Given the description of an element on the screen output the (x, y) to click on. 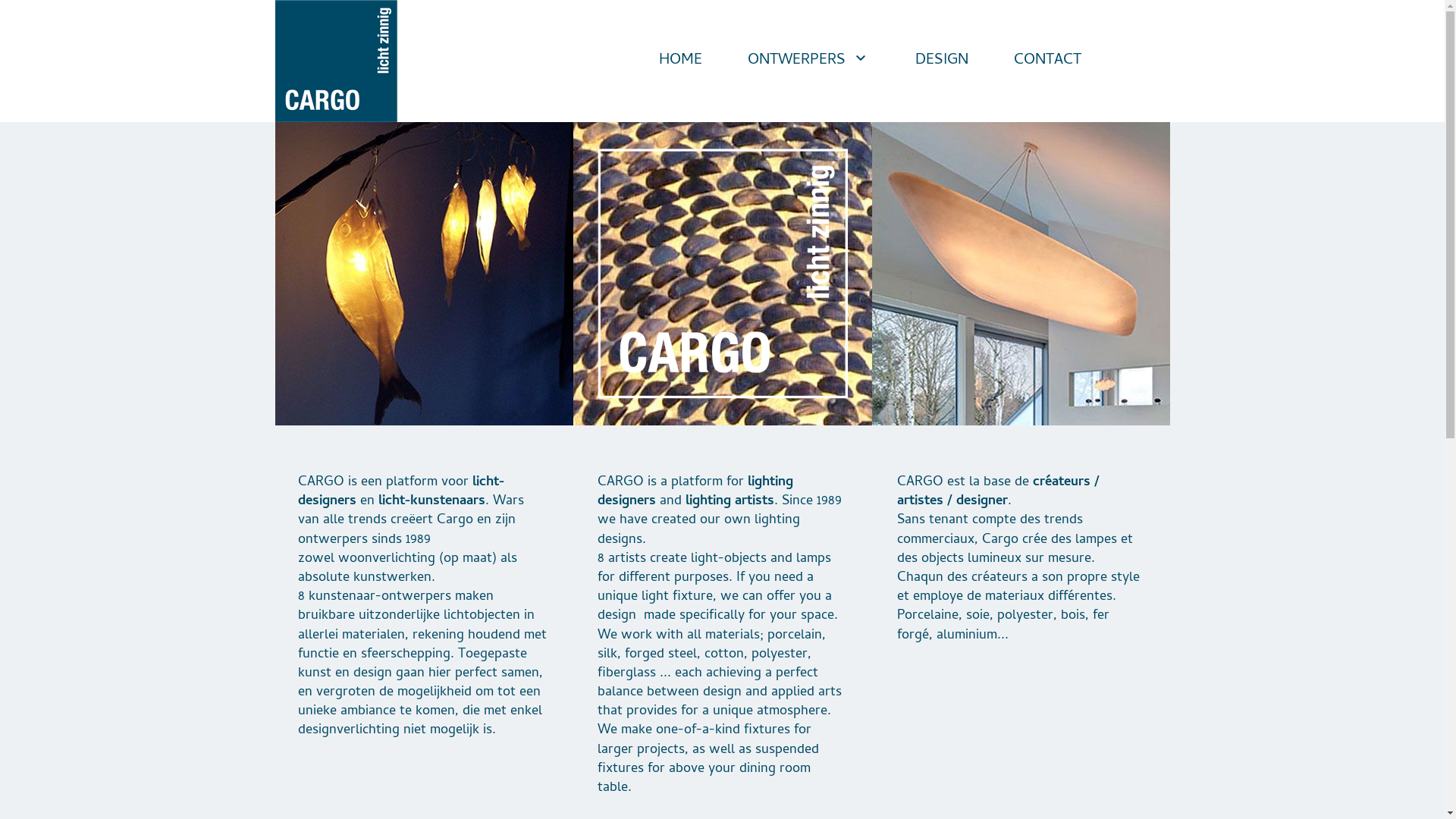
DESIGN Element type: text (941, 61)
CONTACT Element type: text (1047, 61)
HOME Element type: text (680, 61)
ONTWERPERS Element type: text (808, 61)
